Given the description of an element on the screen output the (x, y) to click on. 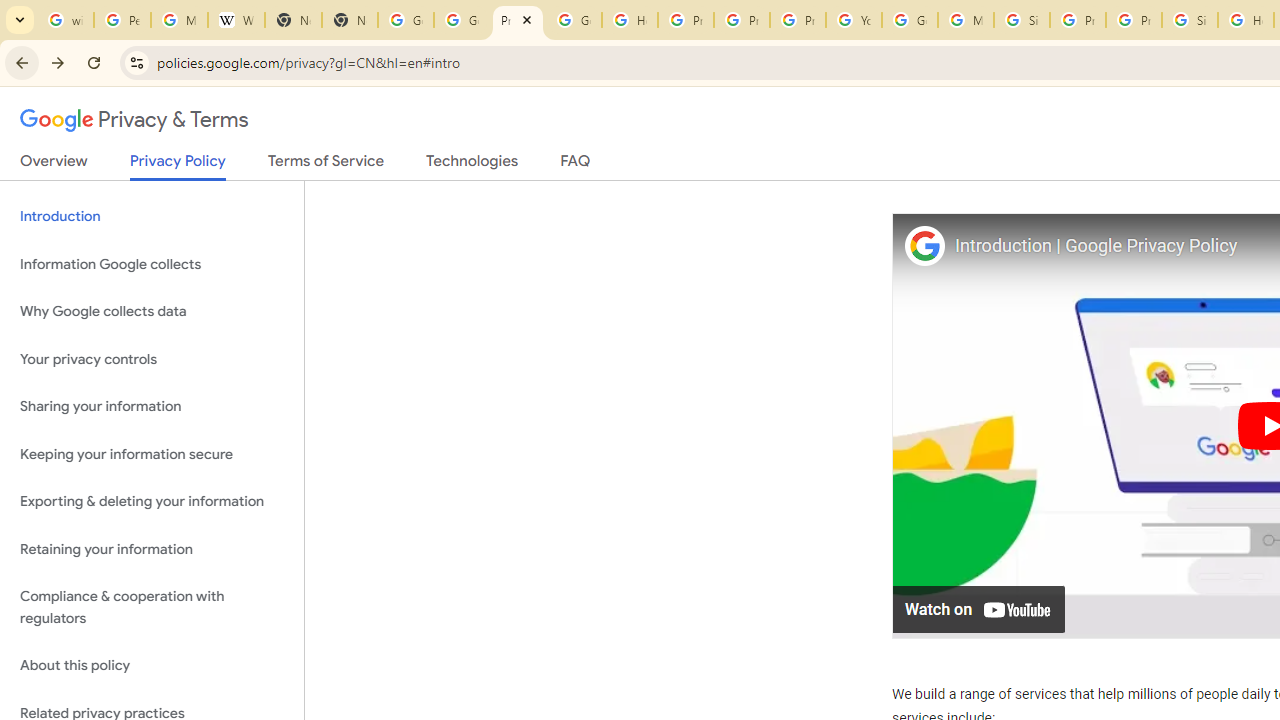
Compliance & cooperation with regulators (152, 607)
Privacy Policy (177, 166)
